Given the description of an element on the screen output the (x, y) to click on. 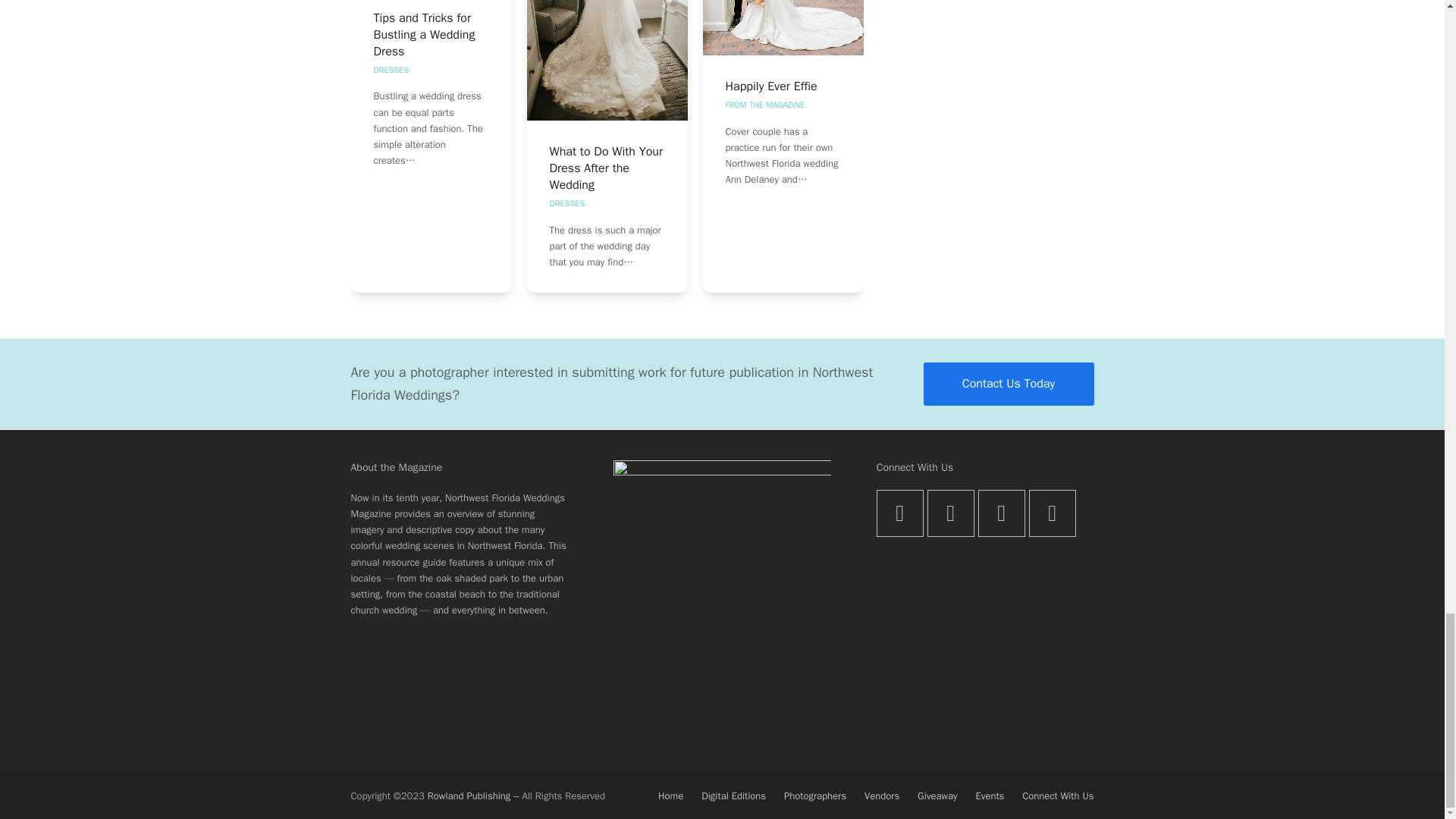
Twitter (899, 513)
Tips and Tricks for Bustling a Wedding Dress (423, 34)
Facebook (950, 513)
Pinterest (1052, 513)
Instagram (1001, 513)
